Given the description of an element on the screen output the (x, y) to click on. 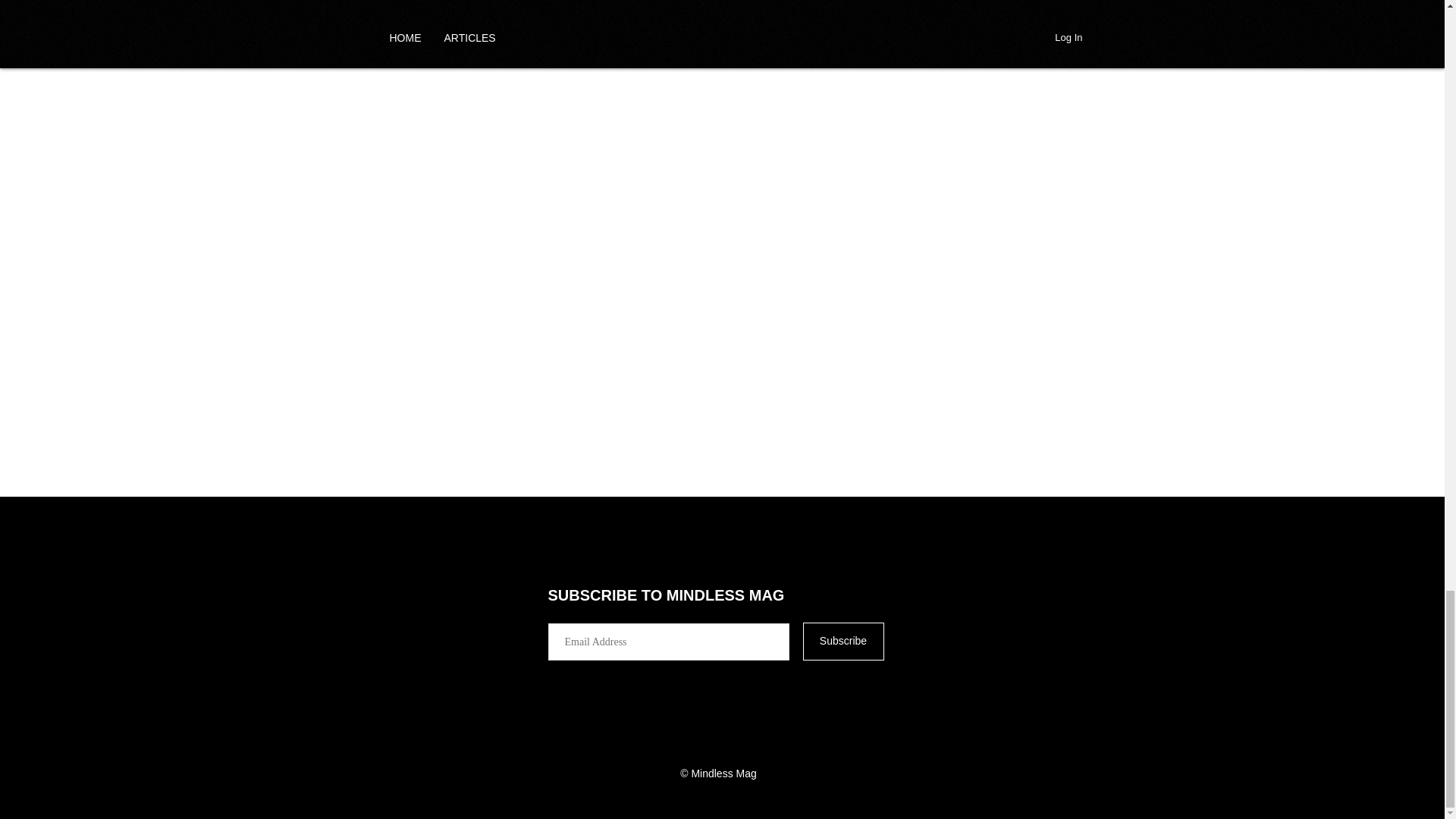
Subscribe (842, 641)
